Given the description of an element on the screen output the (x, y) to click on. 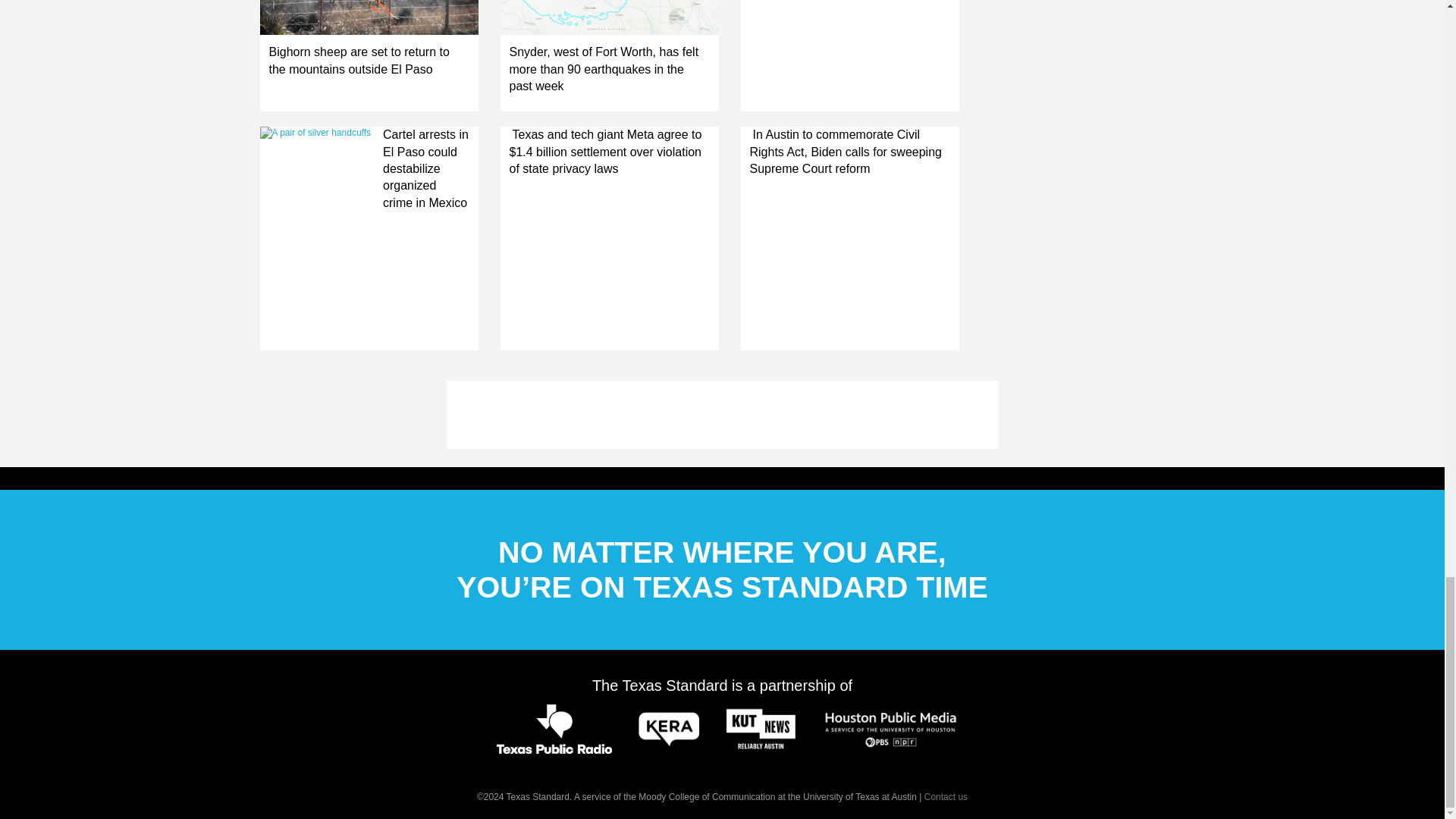
3rd party ad content (721, 414)
